Given the description of an element on the screen output the (x, y) to click on. 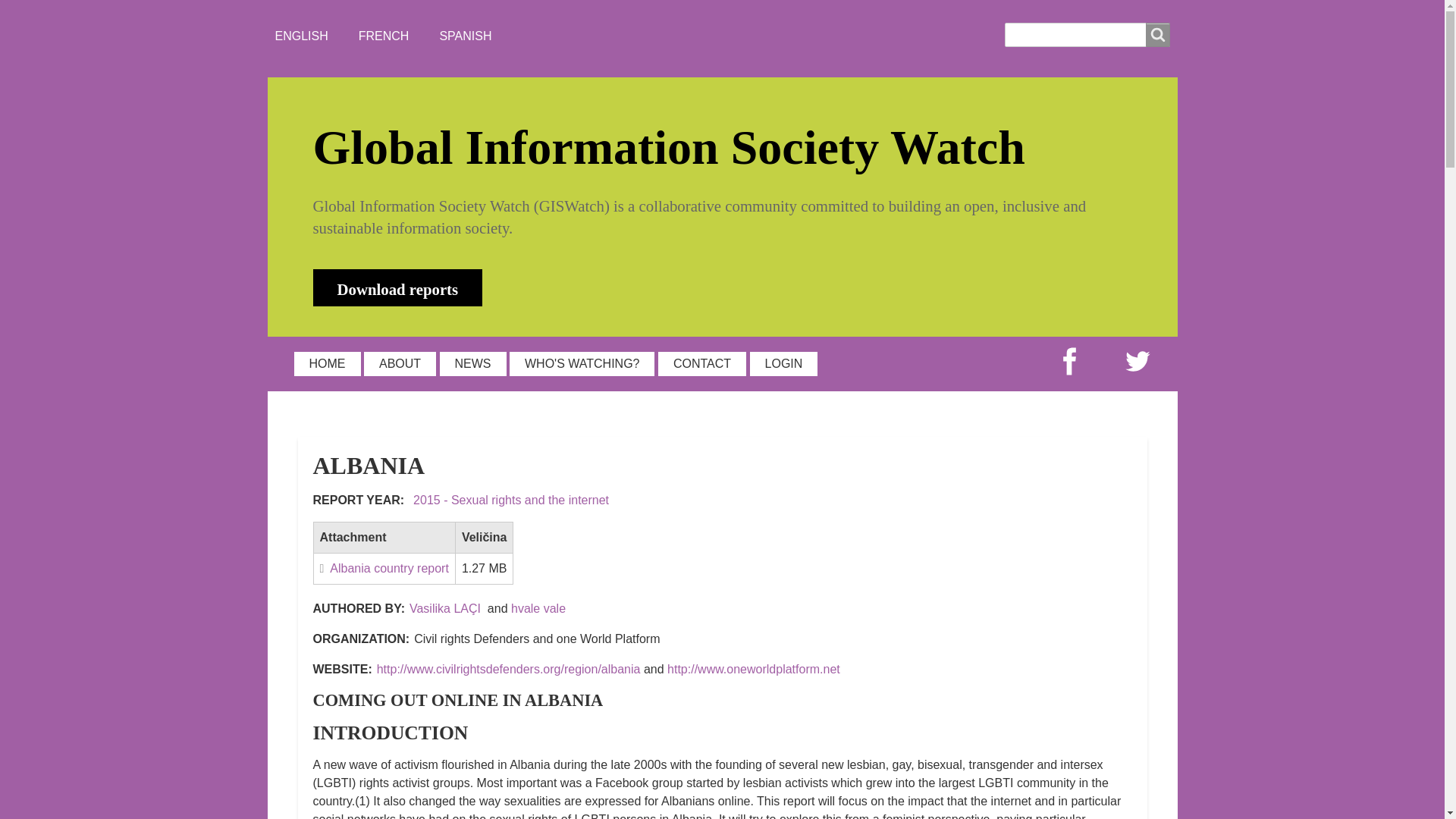
Pretraga (1156, 34)
hvale vale (538, 608)
2015 - Sexual rights and the internet (510, 499)
WHO'S WATCHING? (582, 363)
HOME (327, 363)
SPANISH (465, 35)
gw2015-albania.pdf (384, 567)
LOGIN (783, 363)
Pretraga (1156, 34)
Download reports (397, 287)
